Given the description of an element on the screen output the (x, y) to click on. 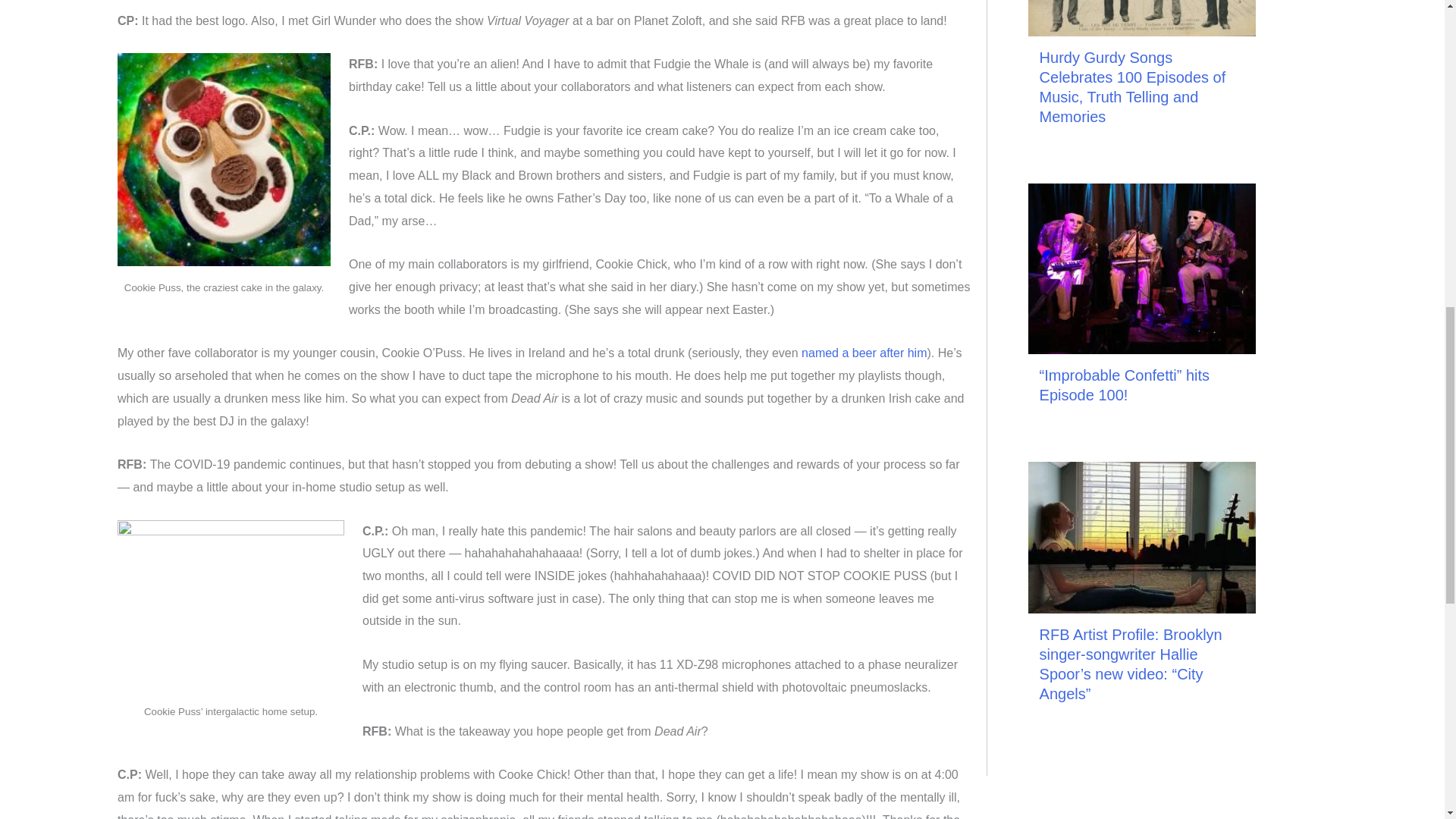
named a beer after him (864, 352)
